Given the description of an element on the screen output the (x, y) to click on. 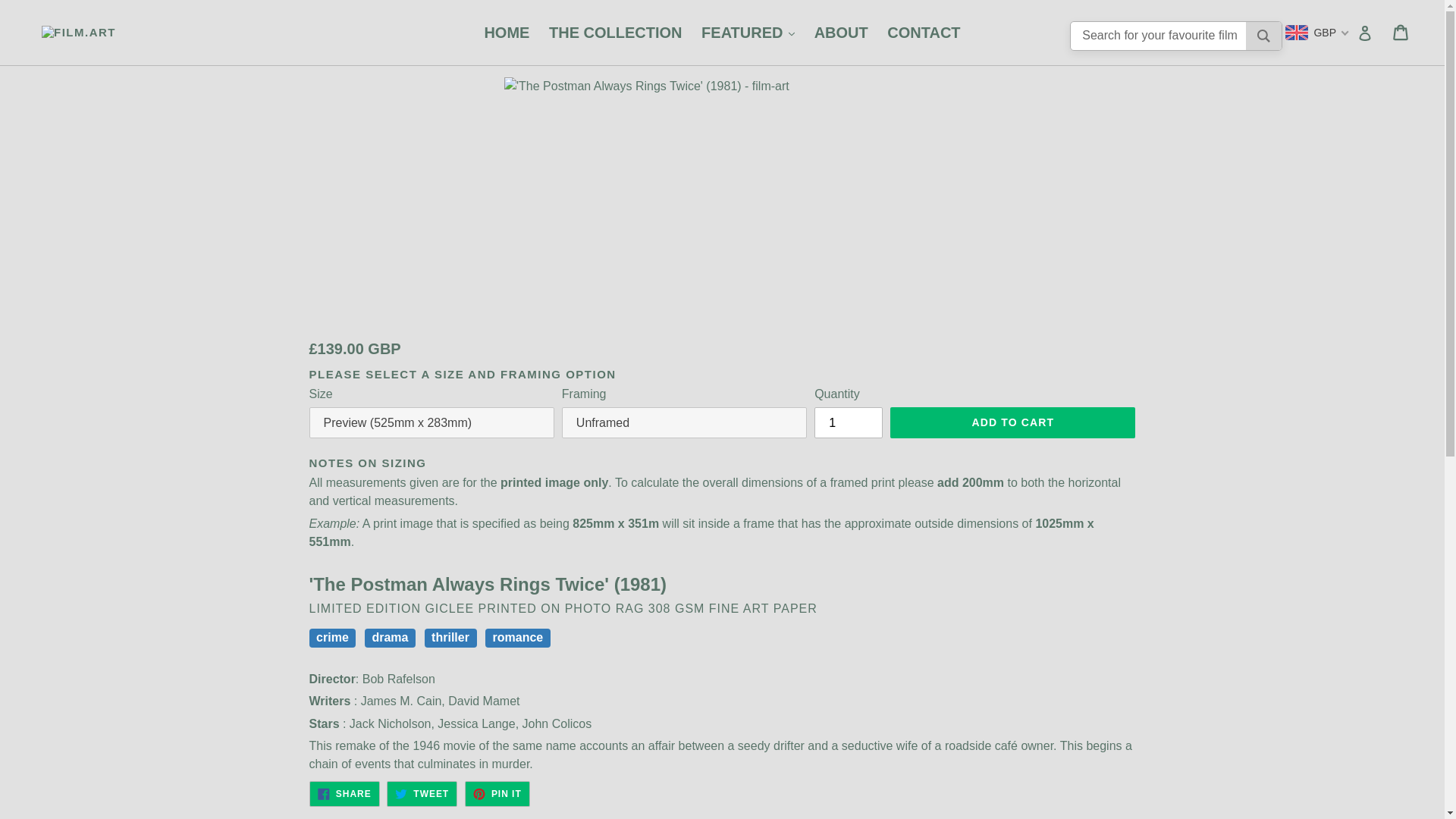
HOME (506, 31)
THE COLLECTION (615, 31)
1 (847, 422)
Tweet on Twitter (422, 793)
CONTACT (923, 31)
Pin on Pinterest (496, 793)
Share on Facebook (344, 793)
ABOUT (841, 31)
